Given the description of an element on the screen output the (x, y) to click on. 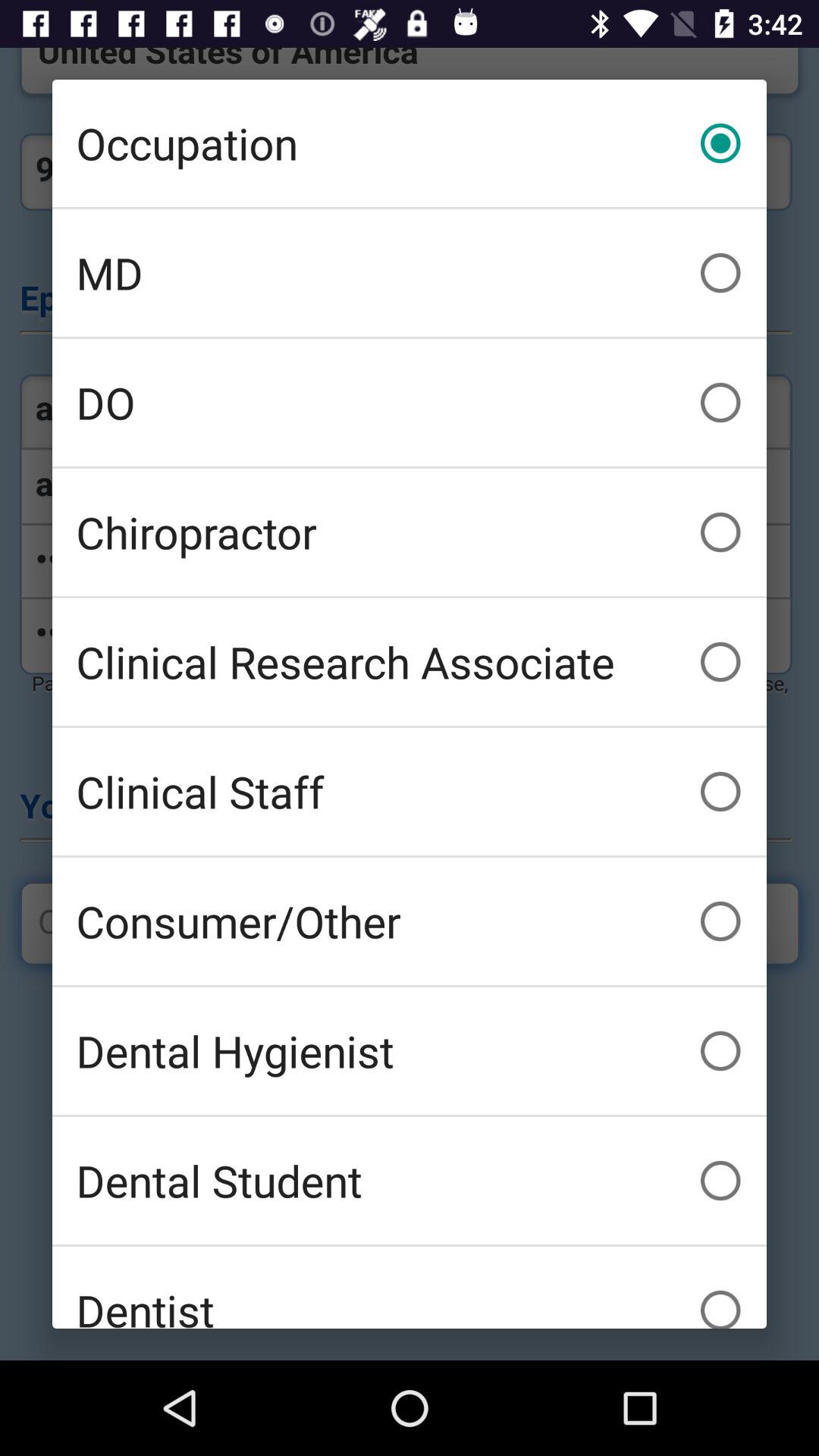
swipe until chiropractor (409, 532)
